Given the description of an element on the screen output the (x, y) to click on. 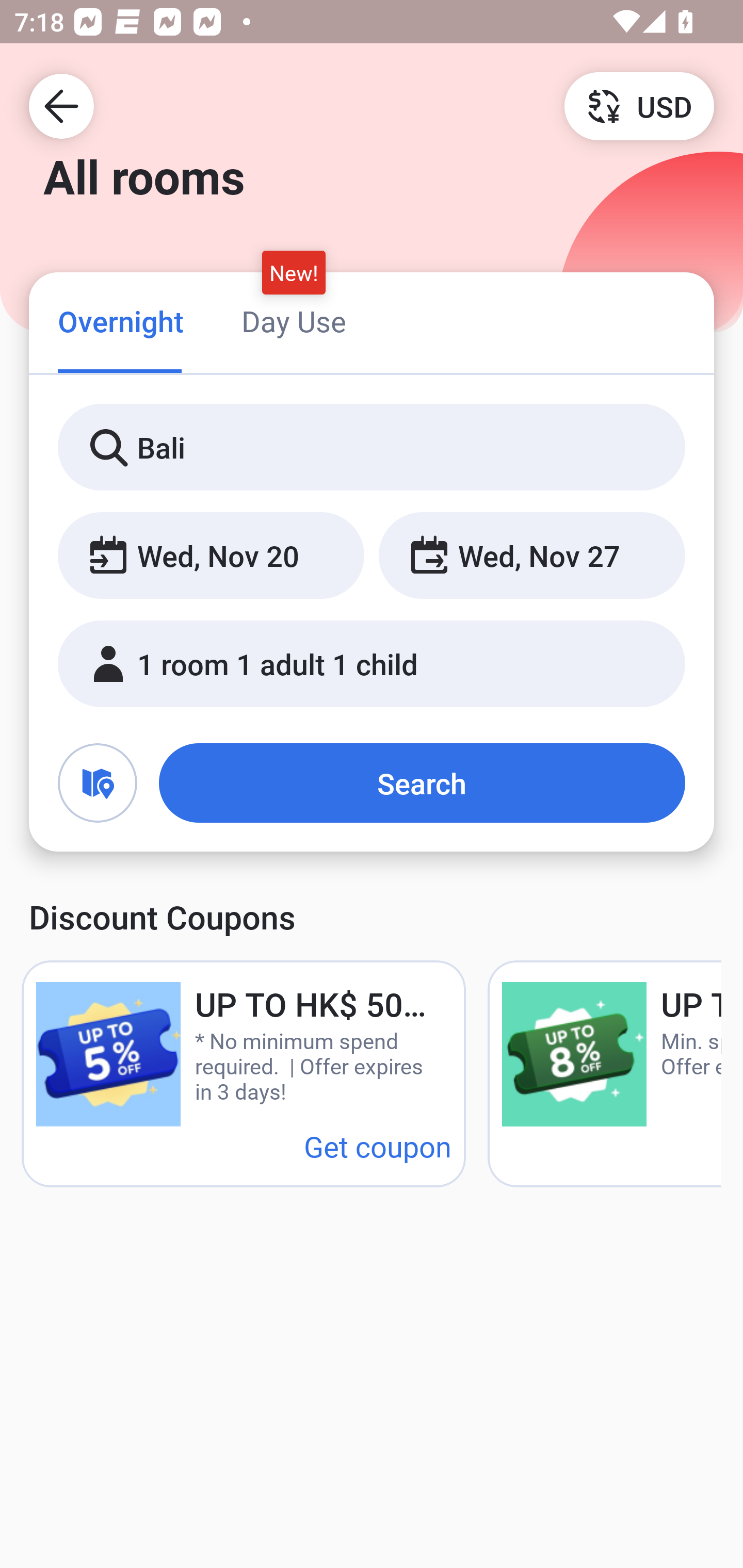
USD (639, 105)
New! (294, 272)
Day Use (293, 321)
Bali (371, 447)
Wed, Nov 20 (210, 555)
Wed, Nov 27 (531, 555)
1 room 1 adult 1 child (371, 663)
Search (422, 783)
Get coupon (377, 1146)
